Given the description of an element on the screen output the (x, y) to click on. 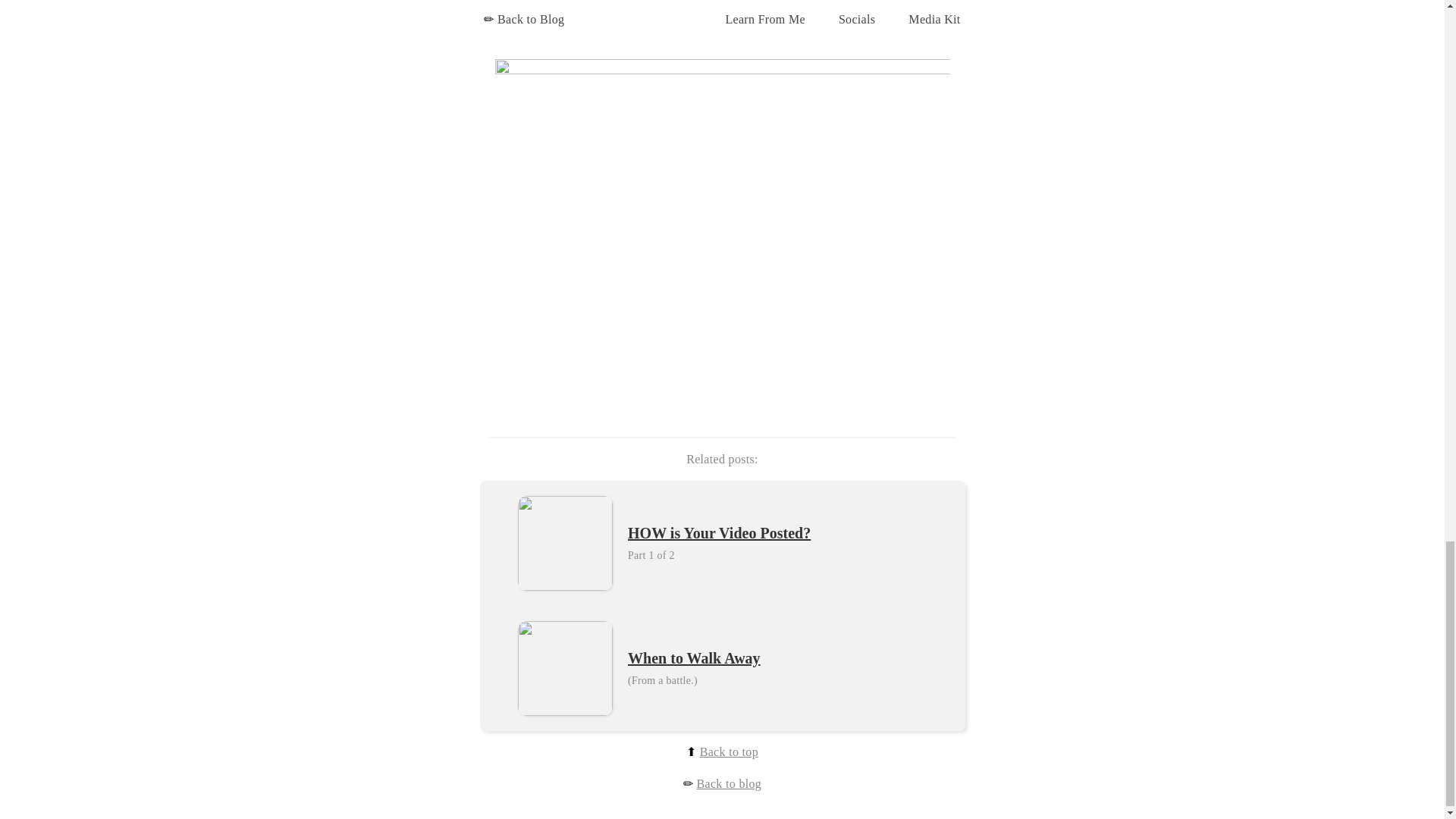
When to Walk Away (693, 658)
HOW is Your Video Posted? (718, 533)
Back to blog (729, 783)
Back to top (729, 751)
